Given the description of an element on the screen output the (x, y) to click on. 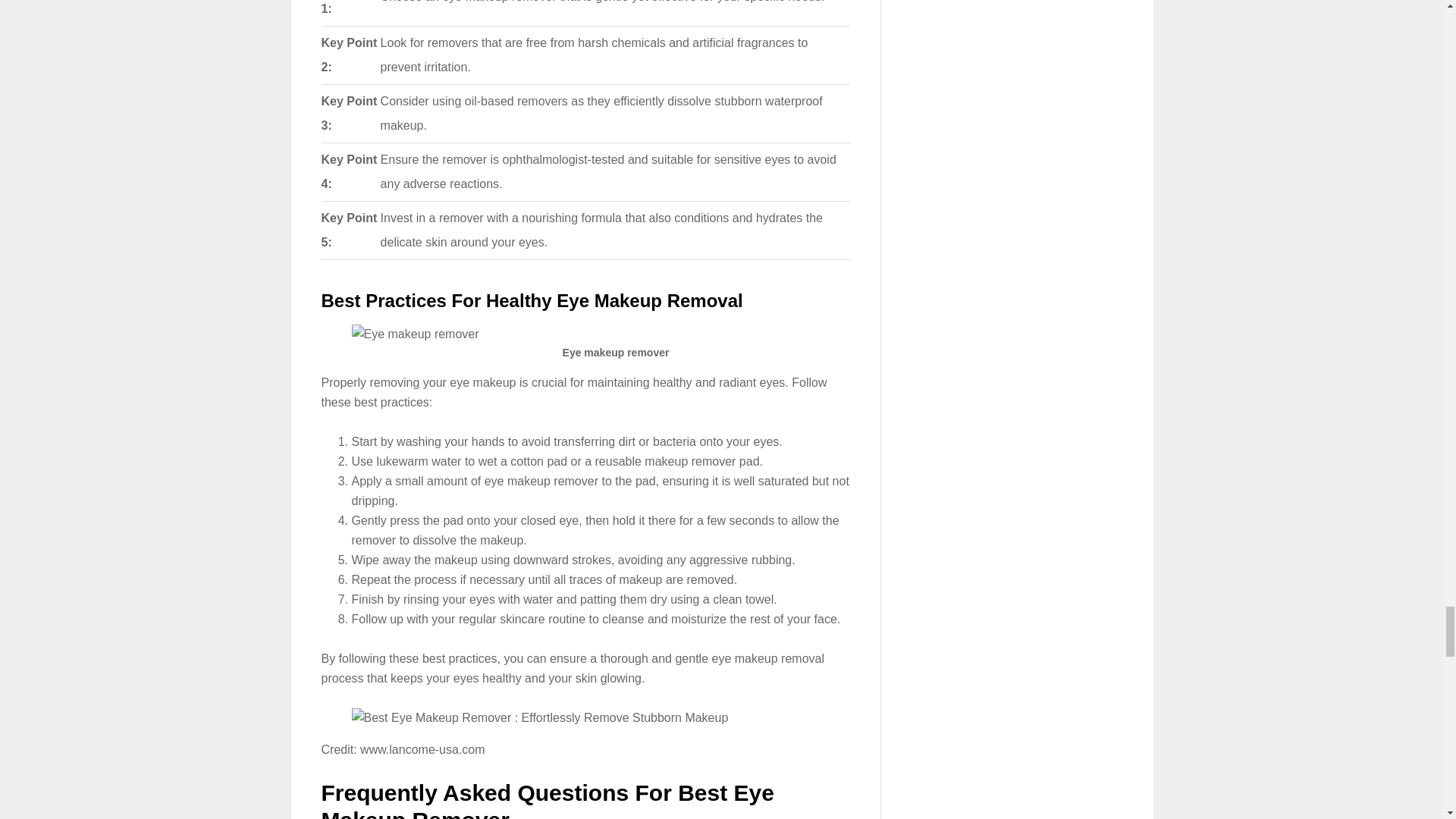
Eye makeup remover (415, 333)
